Given the description of an element on the screen output the (x, y) to click on. 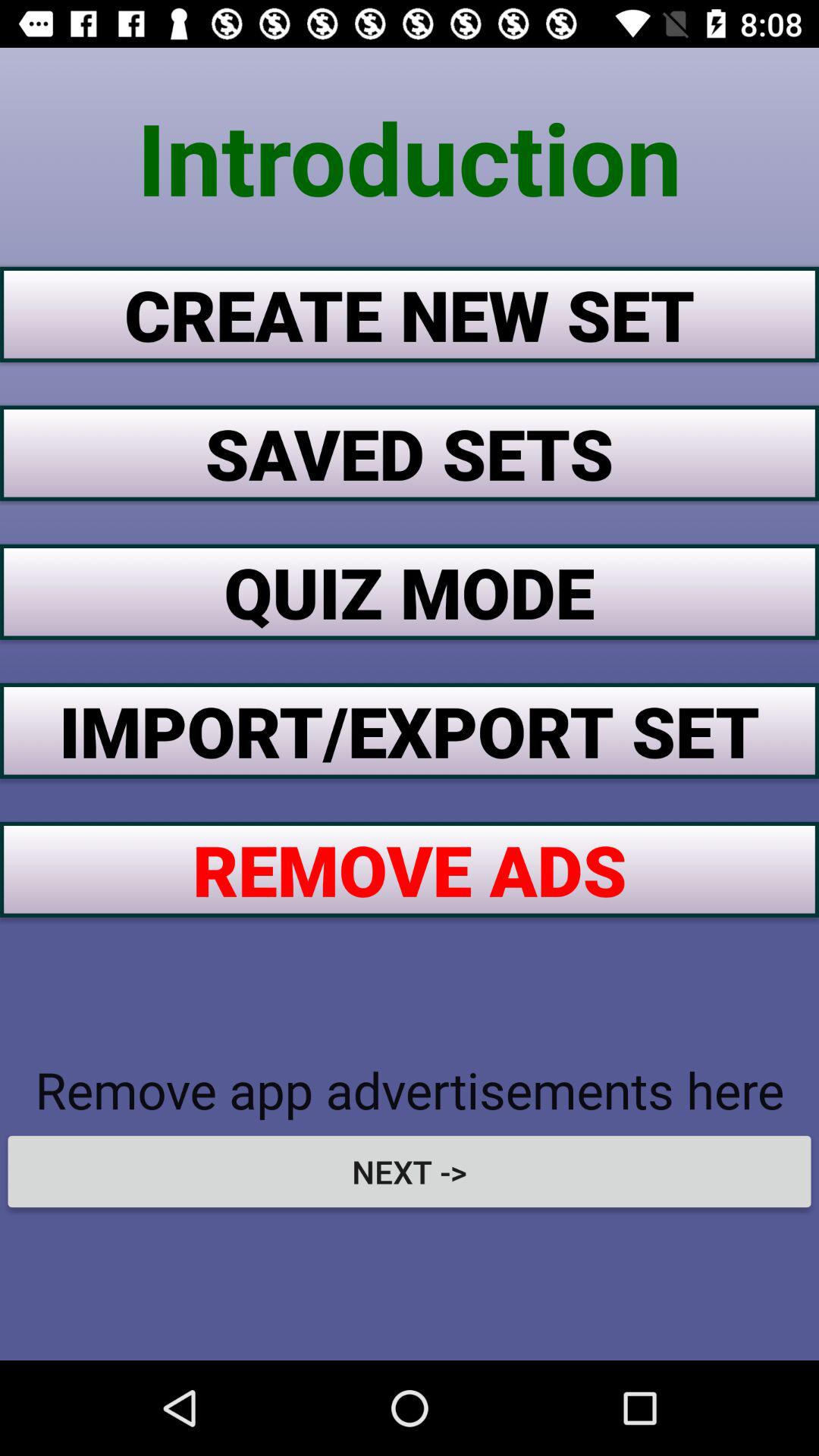
open import/export set (409, 730)
